Given the description of an element on the screen output the (x, y) to click on. 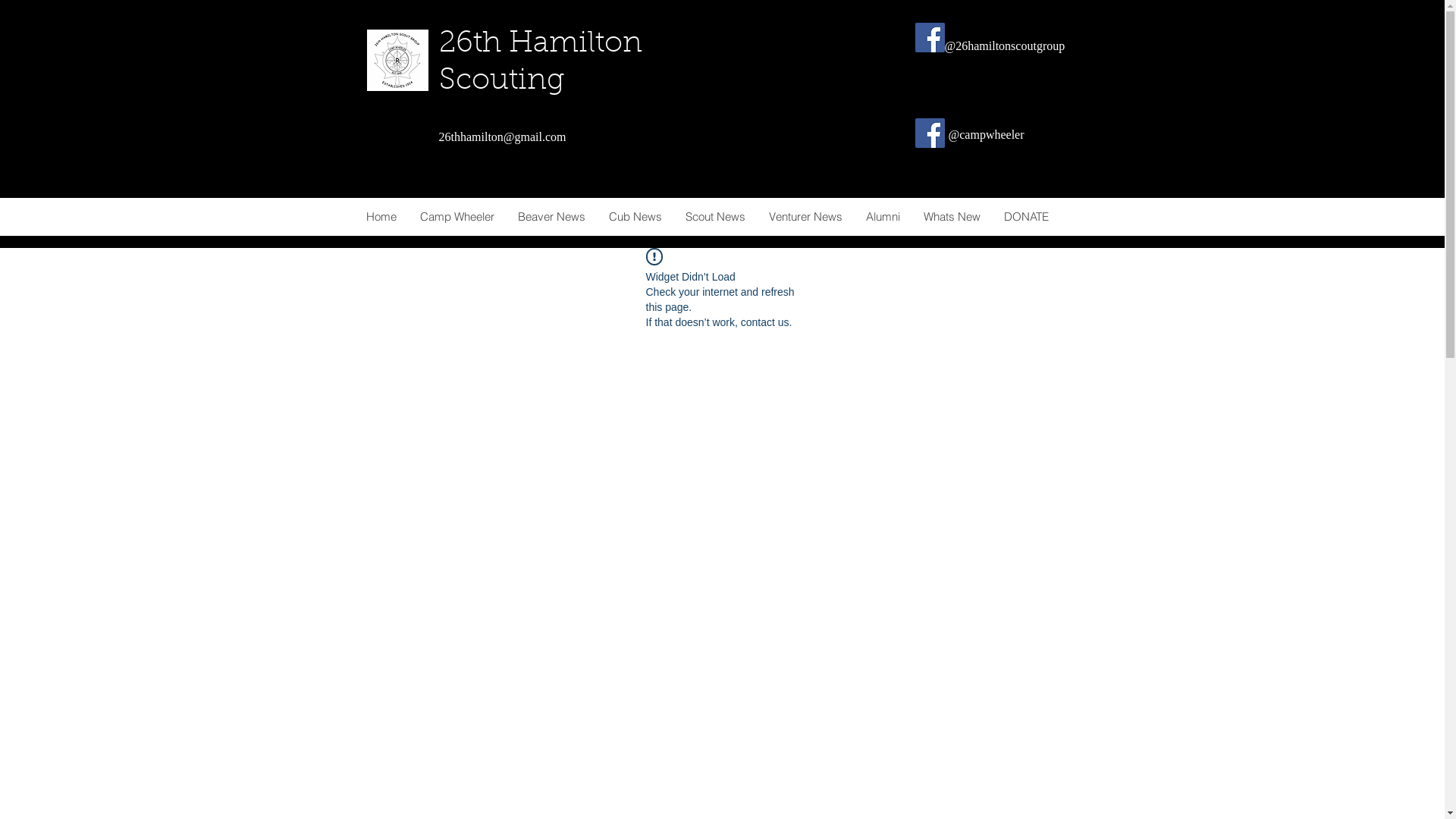
Camp Wheeler Element type: text (456, 216)
DONATE Element type: text (1025, 216)
Cub News Element type: text (634, 216)
Beaver News Element type: text (550, 216)
Scout News Element type: text (714, 216)
26thhamilton@gmail.com Element type: text (501, 136)
Alumni Element type: text (882, 216)
Venturer News Element type: text (804, 216)
Whats New Element type: text (951, 216)
Home Element type: text (380, 216)
